Given the description of an element on the screen output the (x, y) to click on. 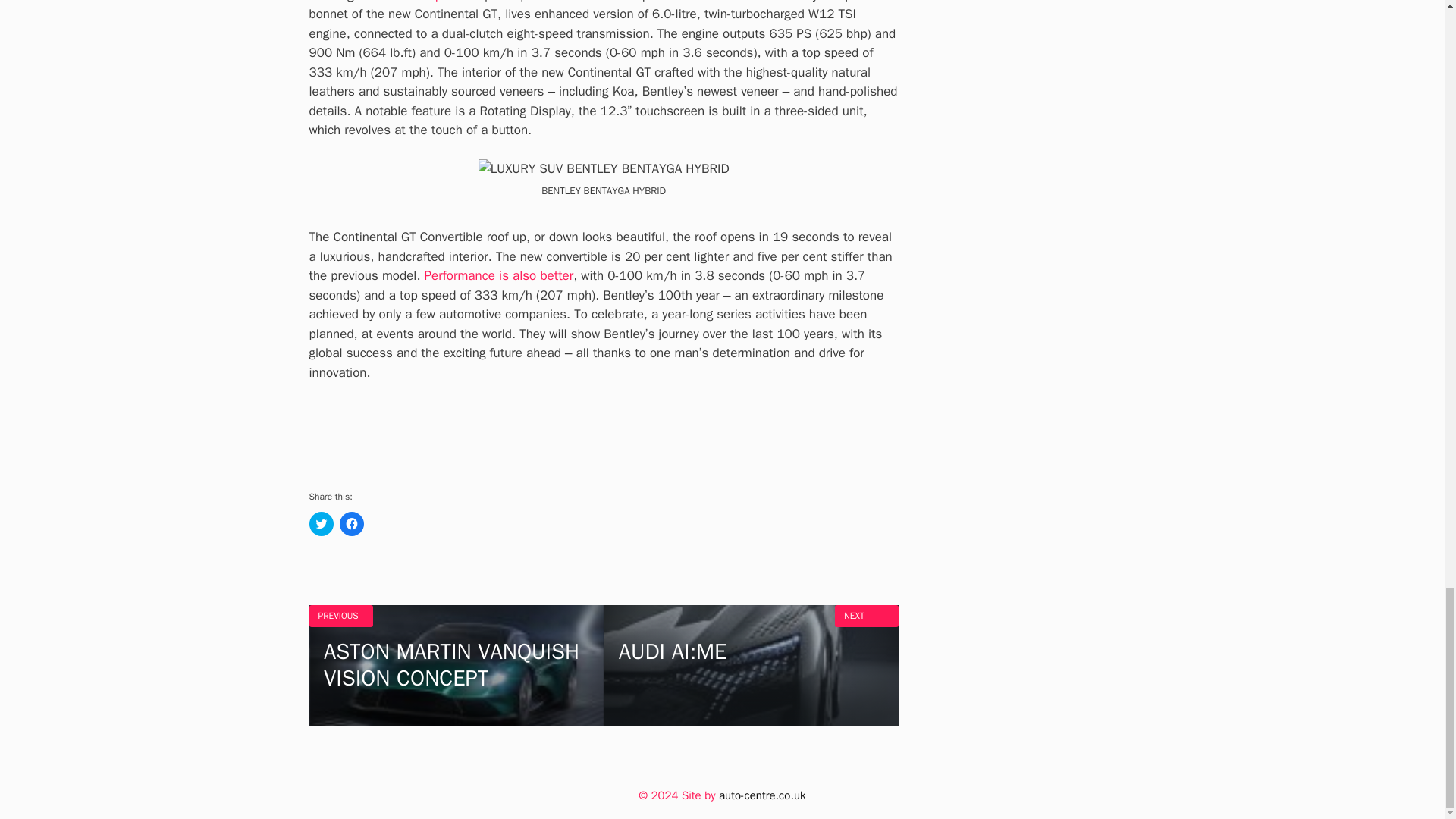
Click to share on Twitter (456, 665)
auto-centre.co.uk (320, 523)
Click to share on Facebook (762, 795)
Performance is also better (751, 665)
coupe (351, 523)
